Given the description of an element on the screen output the (x, y) to click on. 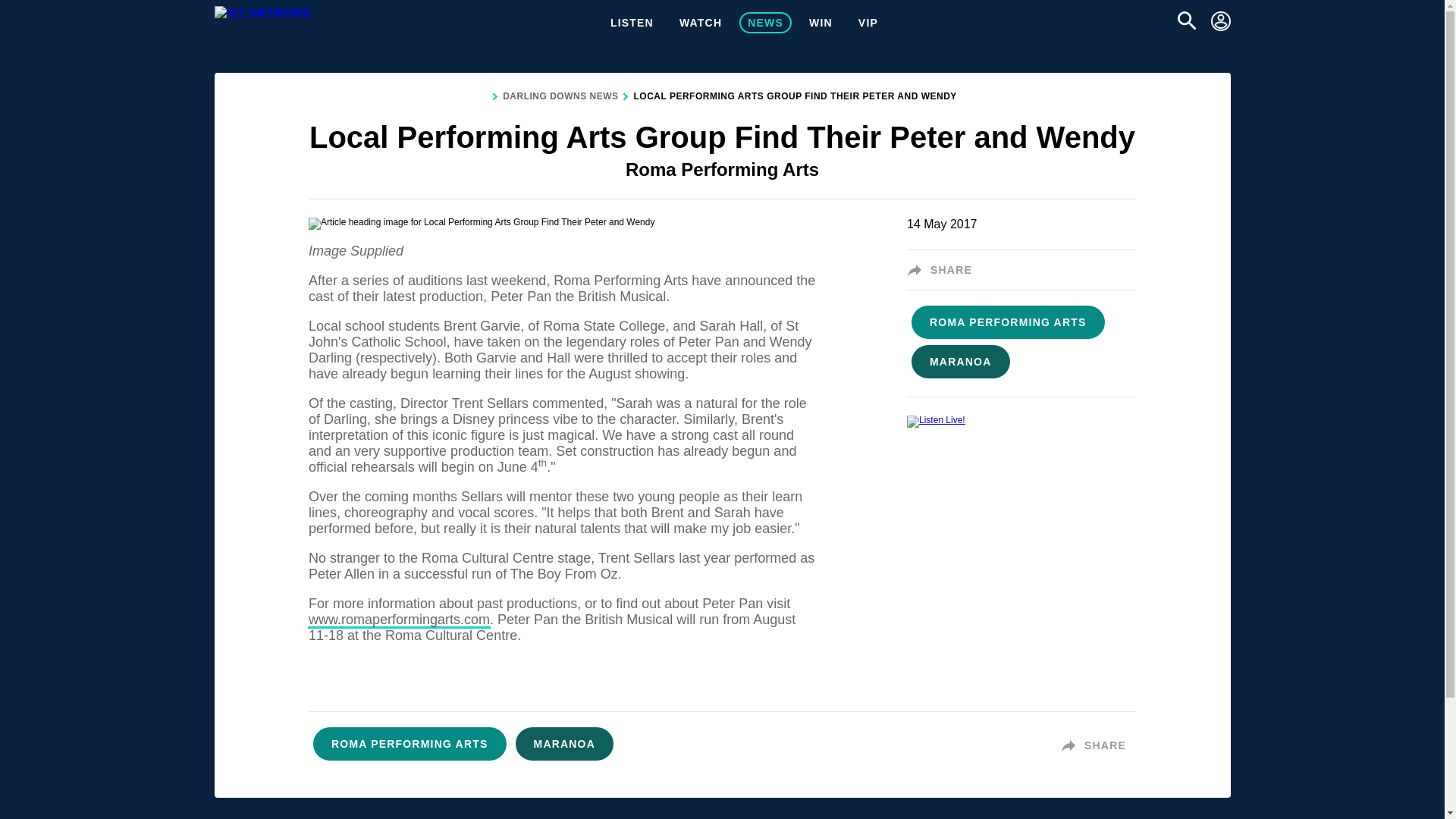
WATCH (700, 22)
VIP (868, 22)
DARLING DOWNS NEWS (559, 96)
Hit Network (262, 11)
ROMA PERFORMING ARTS (1008, 322)
MARANOA (960, 362)
ROMA PERFORMING ARTS (409, 744)
LOCAL PERFORMING ARTS GROUP FIND THEIR PETER AND WENDY (794, 96)
www.romaperformingarts.com (398, 619)
LISTEN (632, 22)
MARANOA (564, 744)
NEWS (765, 22)
WIN (820, 22)
SHARE (1098, 745)
SHARE (944, 269)
